Given the description of an element on the screen output the (x, y) to click on. 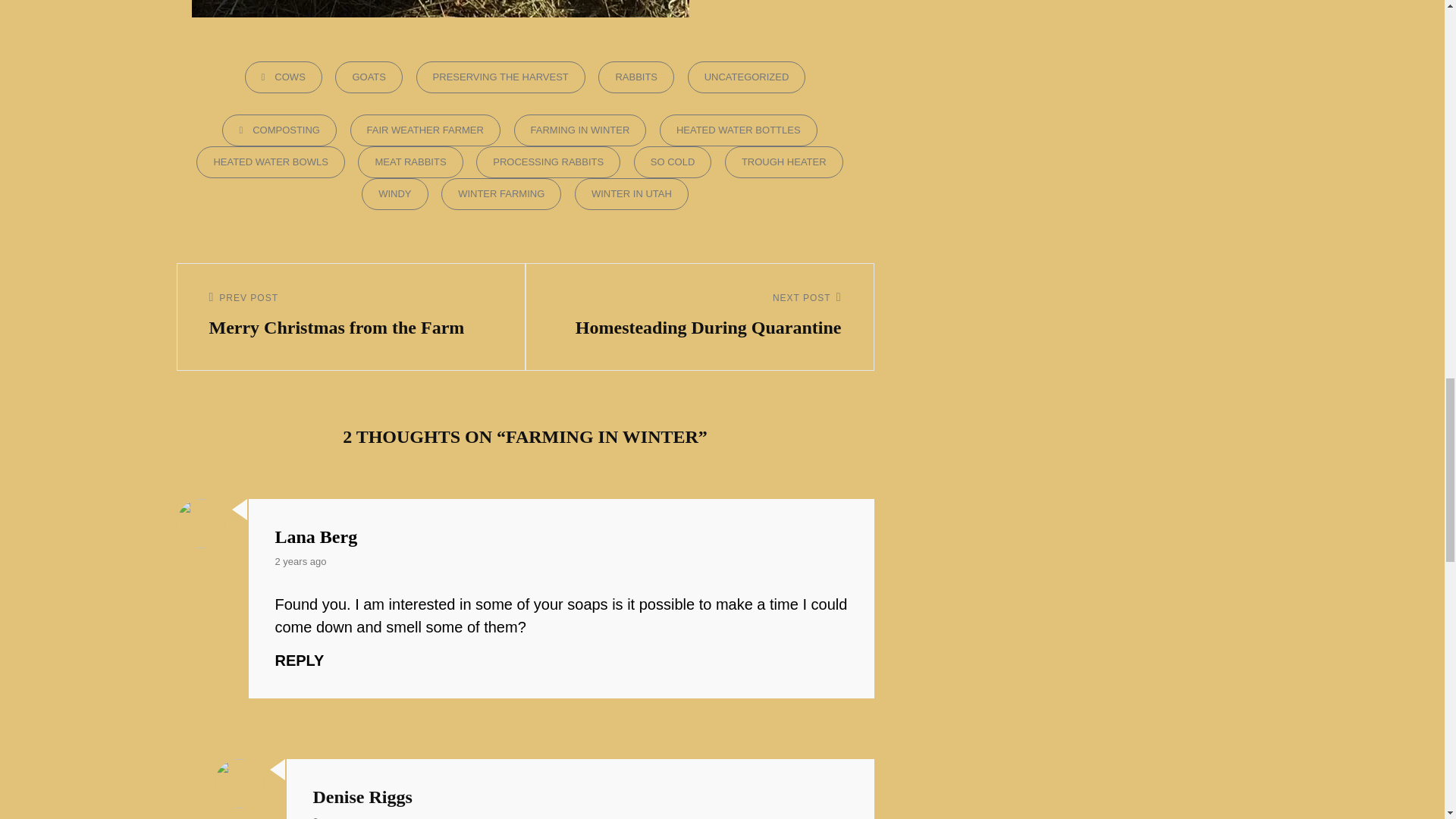
COMPOSTING (279, 130)
WINDY (394, 193)
WINTER IN UTAH (631, 193)
FARMING IN WINTER (579, 130)
Denise Riggs (362, 796)
HEATED WATER BOTTLES (737, 130)
HEATED WATER BOWLS (269, 162)
PROCESSING RABBITS (699, 316)
FAIR WEATHER FARMER (548, 162)
REPLY (425, 130)
COWS (299, 660)
MEAT RABBITS (282, 77)
WINTER FARMING (410, 162)
